Given the description of an element on the screen output the (x, y) to click on. 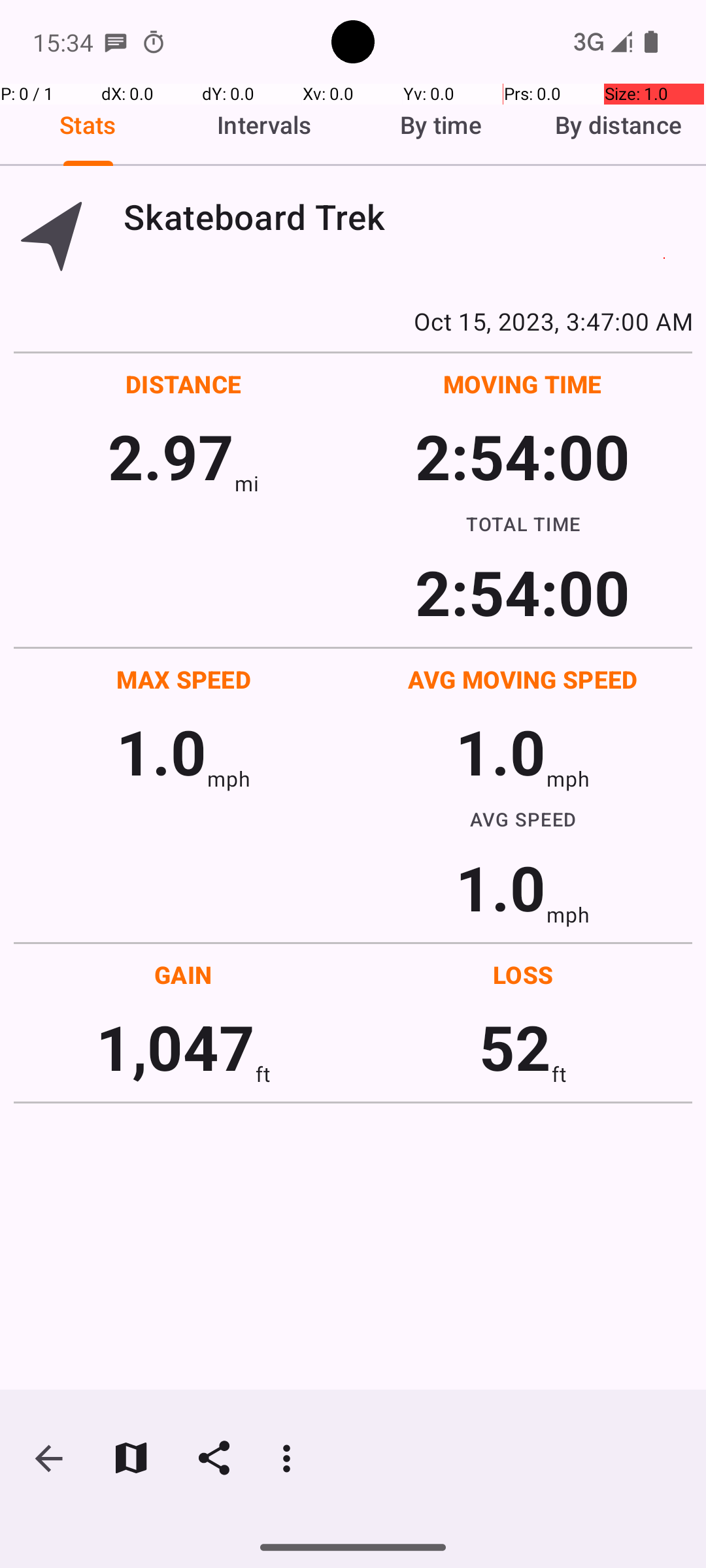
Skateboard Trek Element type: android.widget.TextView (407, 216)
Oct 15, 2023, 3:47:00 AM Element type: android.widget.TextView (352, 320)
2.97 Element type: android.widget.TextView (170, 455)
2:54:00 Element type: android.widget.TextView (522, 455)
1.0 Element type: android.widget.TextView (161, 750)
1,047 Element type: android.widget.TextView (175, 1045)
52 Element type: android.widget.TextView (515, 1045)
